Given the description of an element on the screen output the (x, y) to click on. 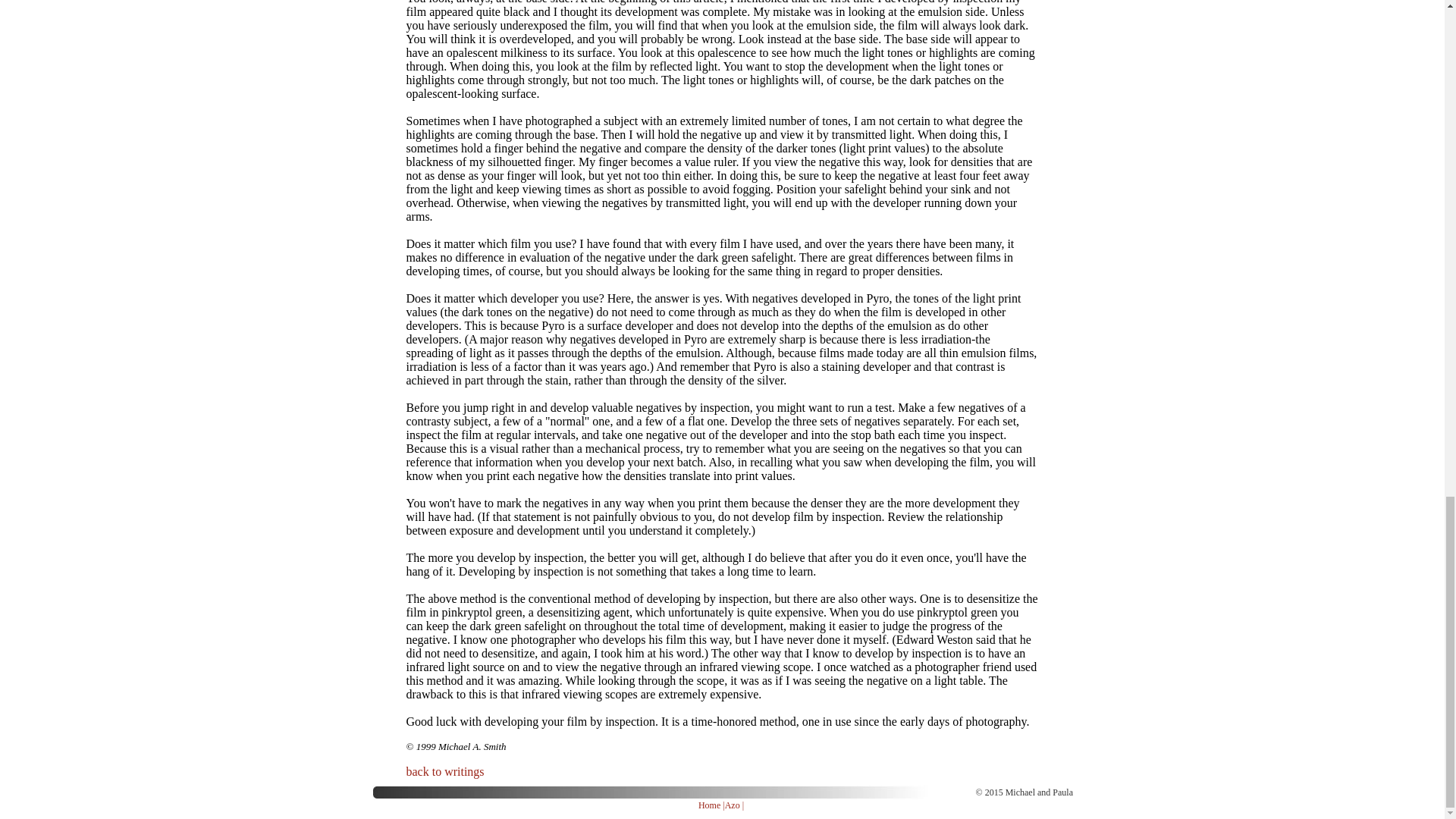
Home (709, 805)
Azo (732, 805)
back to writings (445, 771)
